Given the description of an element on the screen output the (x, y) to click on. 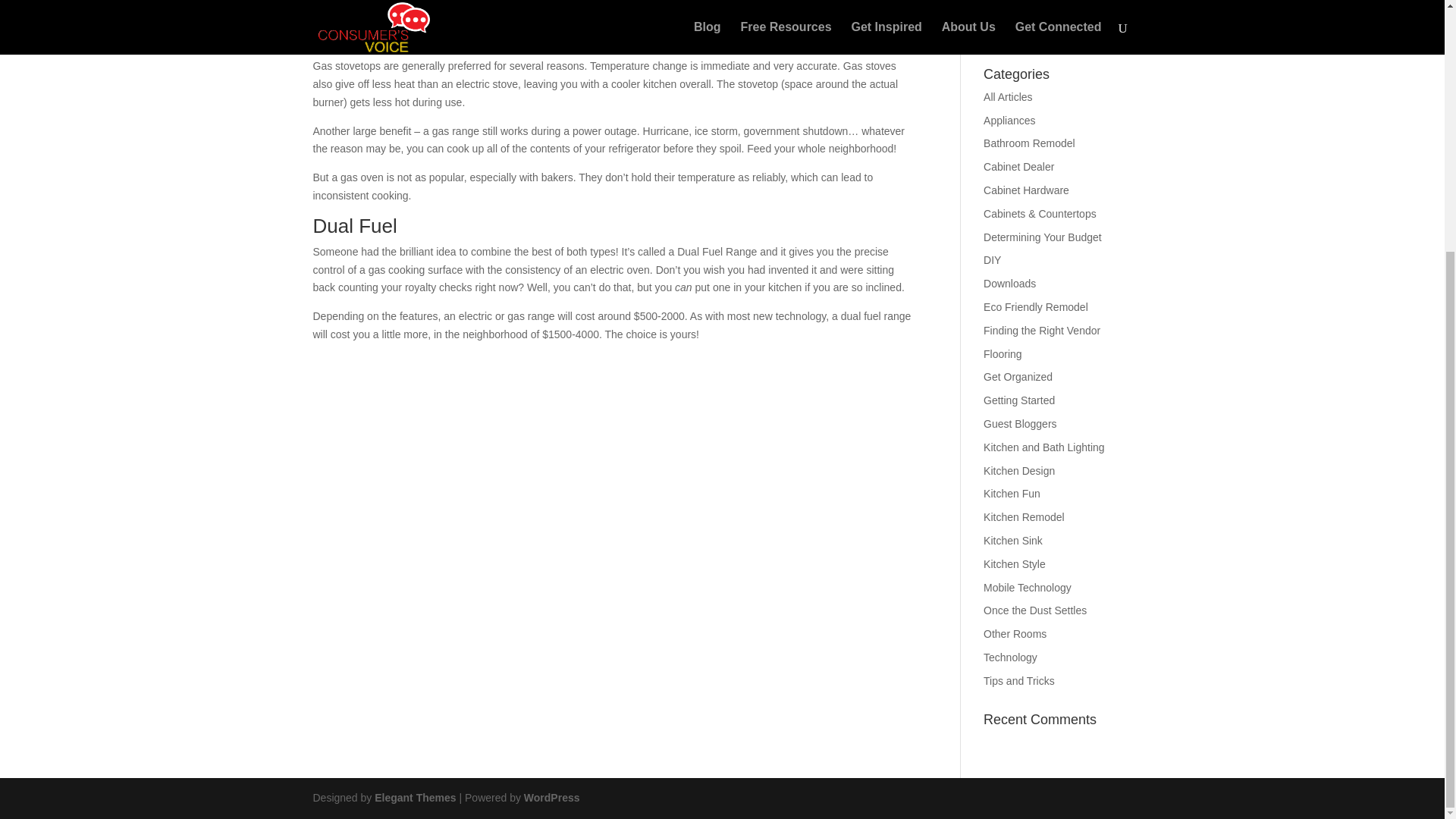
Getting Started (1019, 399)
Determining Your Budget (1043, 236)
Appliances (1009, 120)
Finding the Right Vendor (1042, 330)
Kitchen Fun (1012, 493)
Safe Bets Remodeling for Resale (1044, 25)
Cabinet Dealer (1019, 166)
Eco Friendly Remodel (1035, 306)
All Articles (1008, 96)
DIY (992, 259)
